Given the description of an element on the screen output the (x, y) to click on. 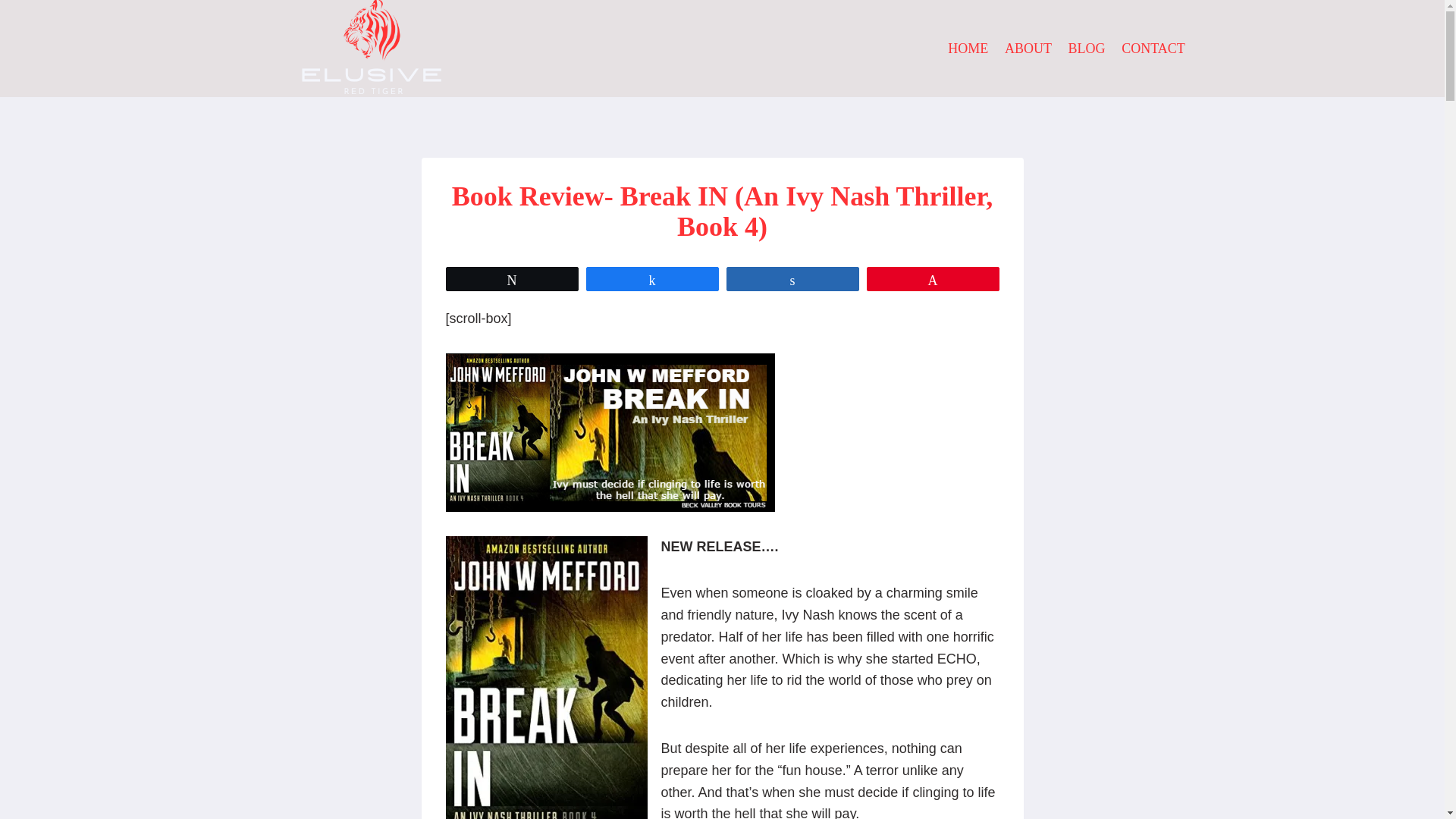
HOME (968, 48)
BLOG (1086, 48)
CONTACT (1152, 48)
ABOUT (1027, 48)
